Given the description of an element on the screen output the (x, y) to click on. 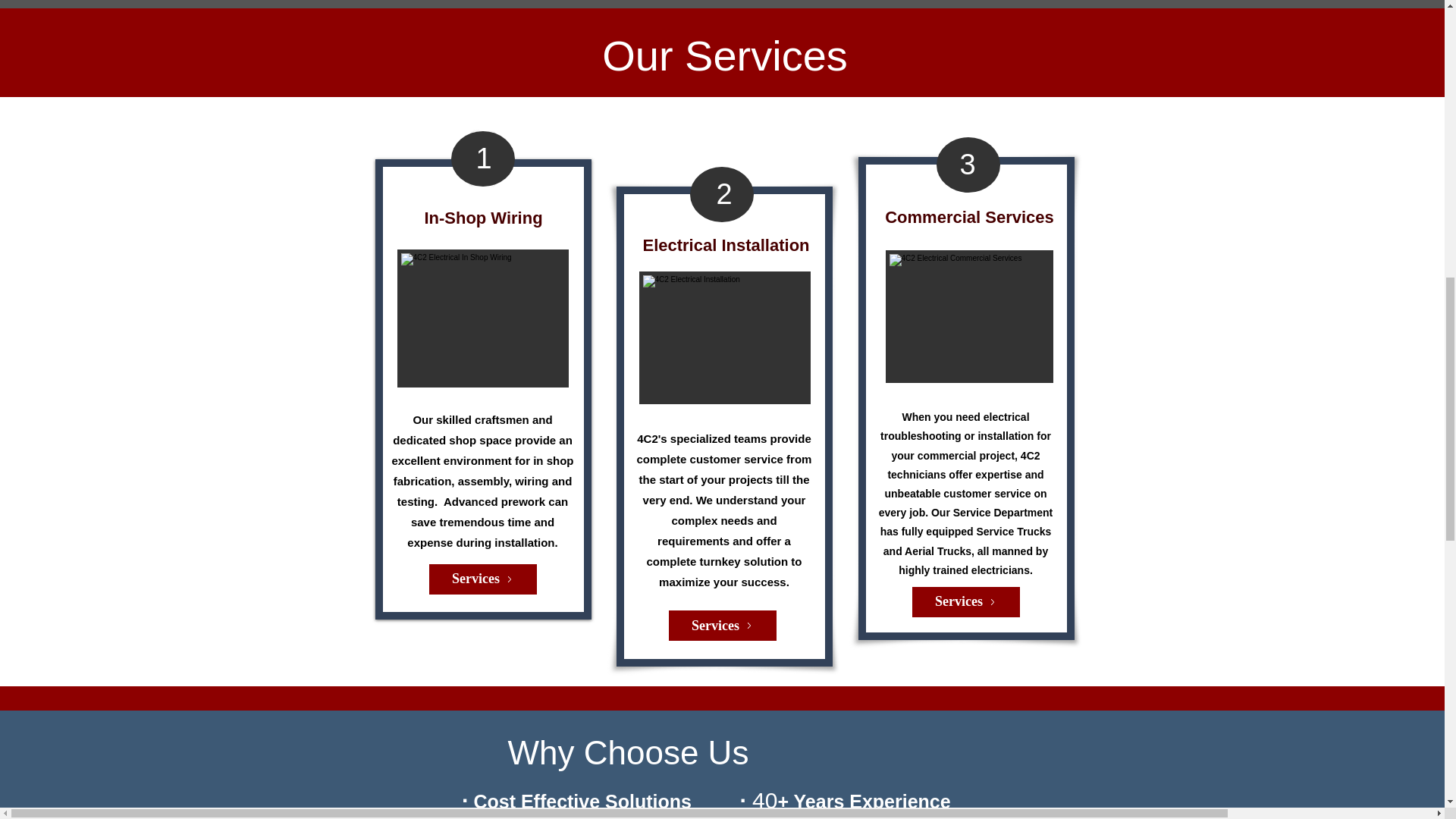
Services (722, 625)
Services (483, 579)
Services (965, 602)
